Given the description of an element on the screen output the (x, y) to click on. 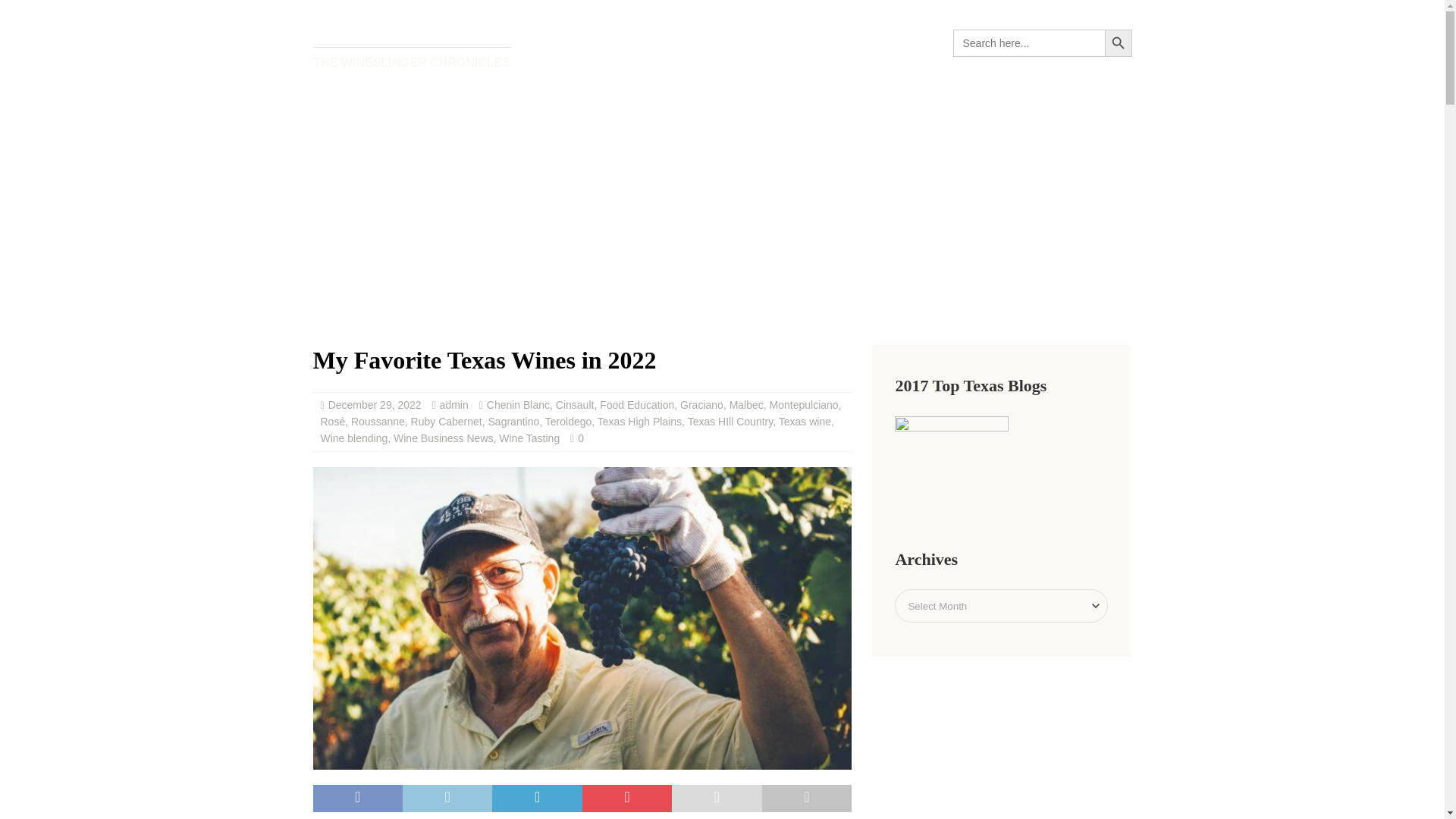
admin (453, 404)
WINE CLASSES (777, 42)
Wine blending (353, 438)
Sagrantino (513, 421)
Chenin Blanc (518, 404)
Texas HIll Country (730, 421)
Texas wine (804, 421)
Ruby Cabernet (445, 421)
RESOURCES (897, 42)
Search Button (1117, 42)
